Given the description of an element on the screen output the (x, y) to click on. 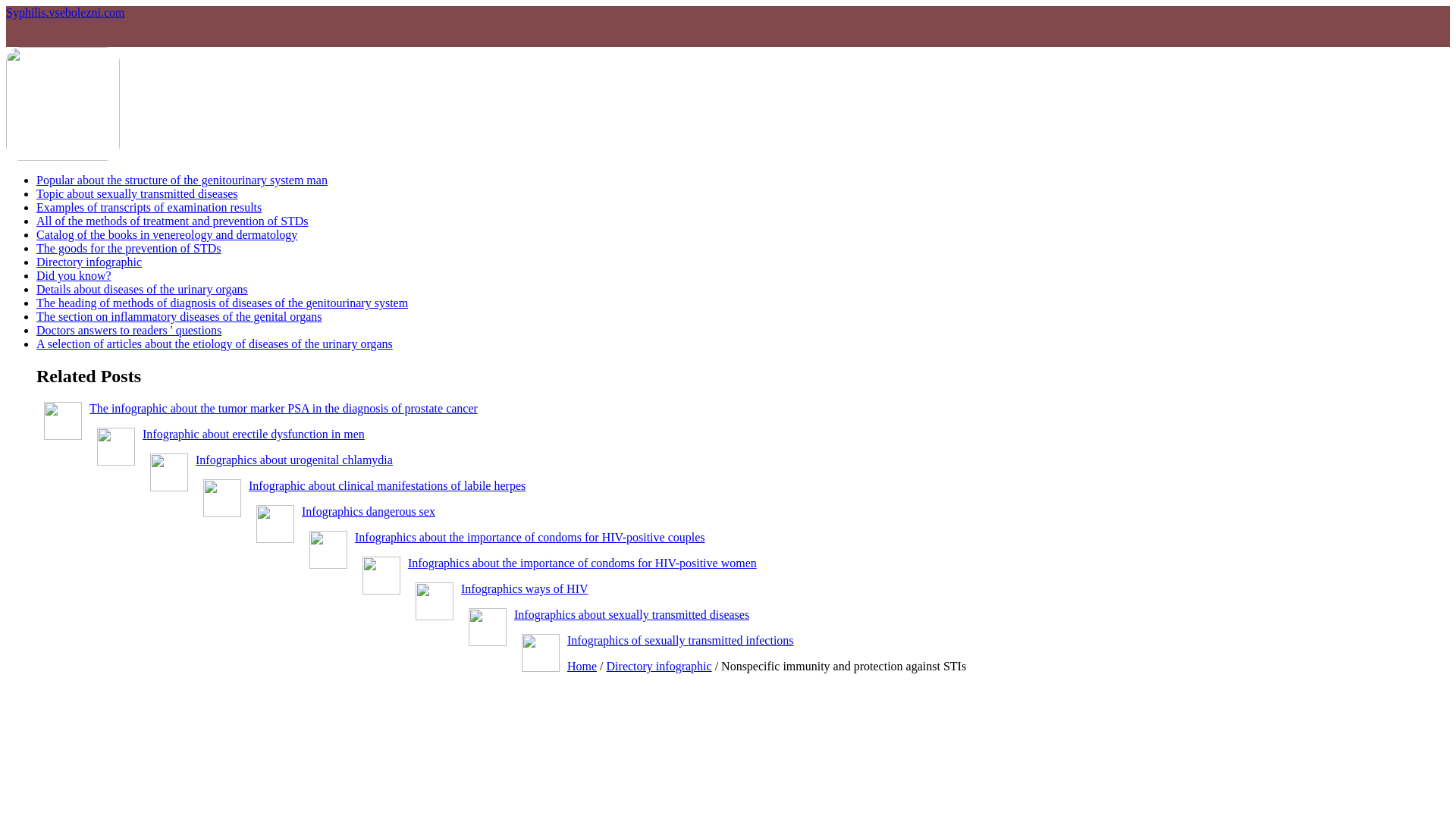
Topic about sexually transmitted diseases (136, 193)
Catalog of the books in venereology and dermatology (166, 234)
The goods for the prevention of STDs (128, 247)
Popular about the structure of the genitourinary system man (181, 179)
Did you know? (74, 275)
Directory infographic (88, 261)
Syphilis.vsebolezni.com (64, 11)
